Given the description of an element on the screen output the (x, y) to click on. 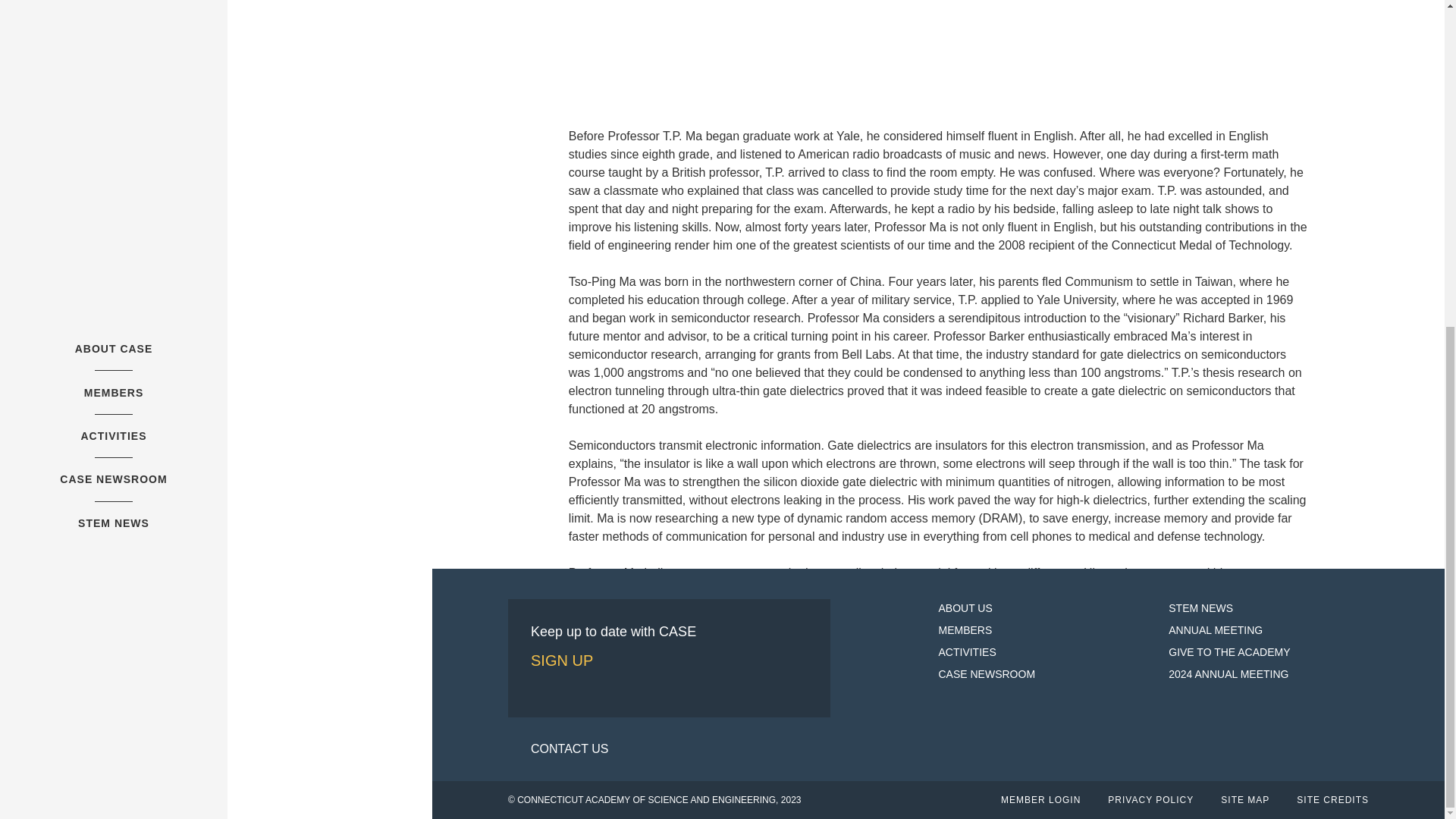
MEMBERS (965, 630)
ACTIVITIES (967, 652)
MEMBER LOGIN (1040, 799)
STEM NEWS (1201, 607)
ABOUT US (965, 607)
GIVE TO THE ACADEMY (1229, 652)
CASE NEWSROOM (987, 674)
Next: Jonathan M. Rothberg (1222, 745)
Previous: Gene Banucci (642, 745)
SITE MAP (1245, 799)
